Given the description of an element on the screen output the (x, y) to click on. 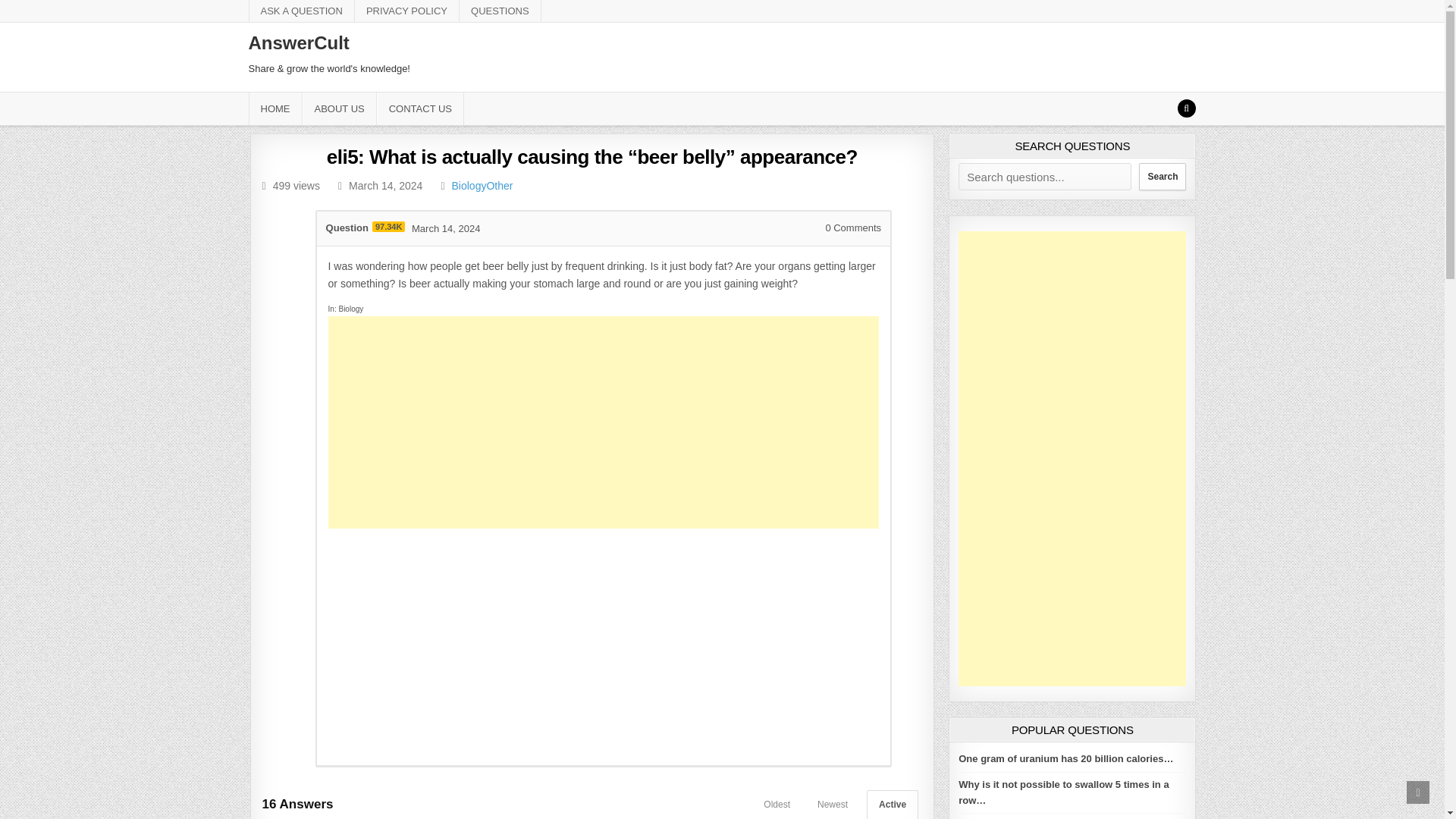
Newest (832, 804)
PRIVACY POLICY (407, 11)
March 14, 2024 (446, 227)
Search (1185, 108)
ASK A QUESTION (301, 11)
QUESTIONS (500, 11)
Scroll to Top (1417, 792)
Active (892, 804)
Reputation (388, 226)
Oldest (776, 804)
